Given the description of an element on the screen output the (x, y) to click on. 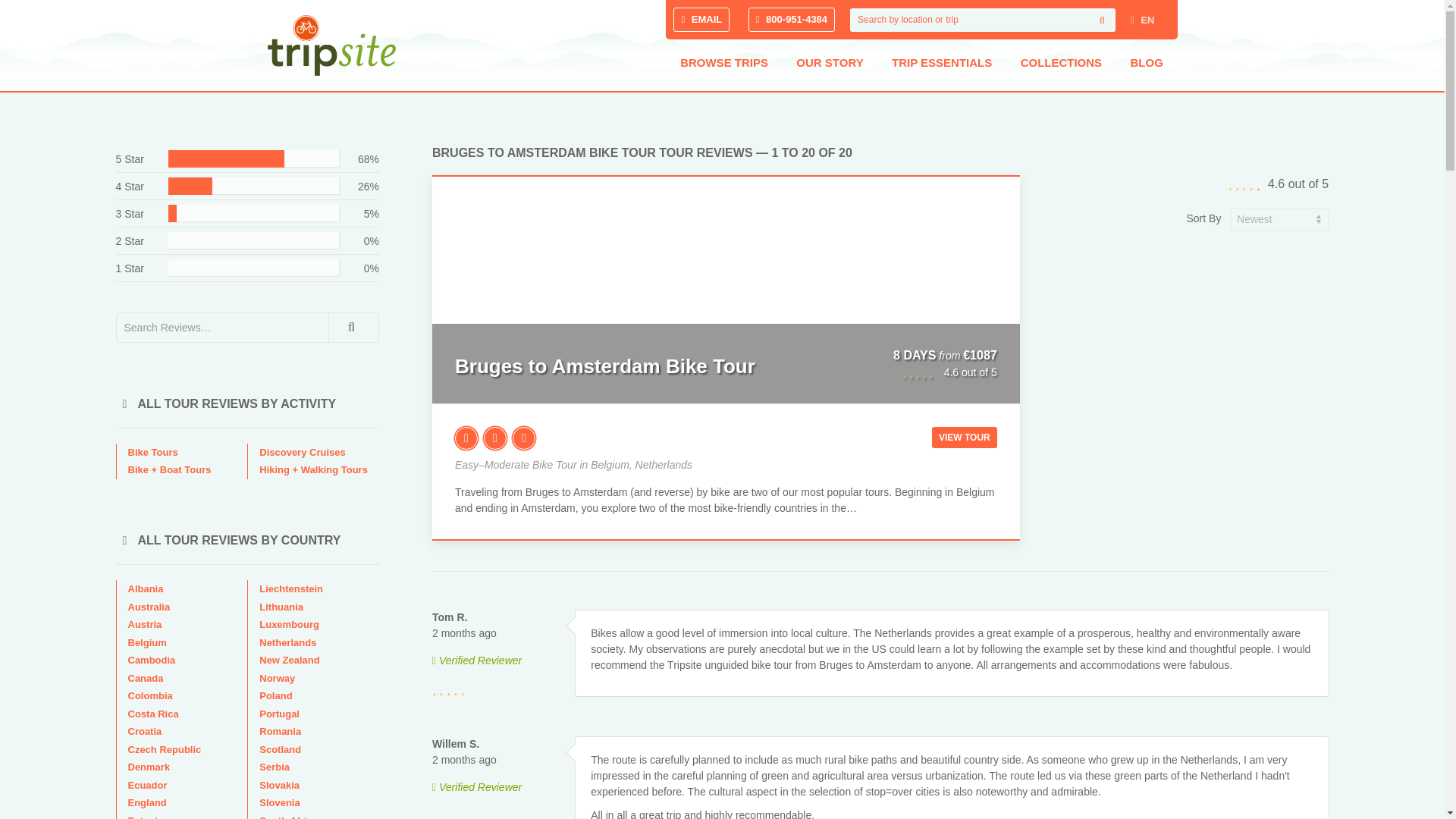
OUR STORY (829, 62)
EMAIL (700, 19)
800-951-4384 (791, 19)
BROWSE TRIPS (723, 62)
EN (1142, 19)
